Given the description of an element on the screen output the (x, y) to click on. 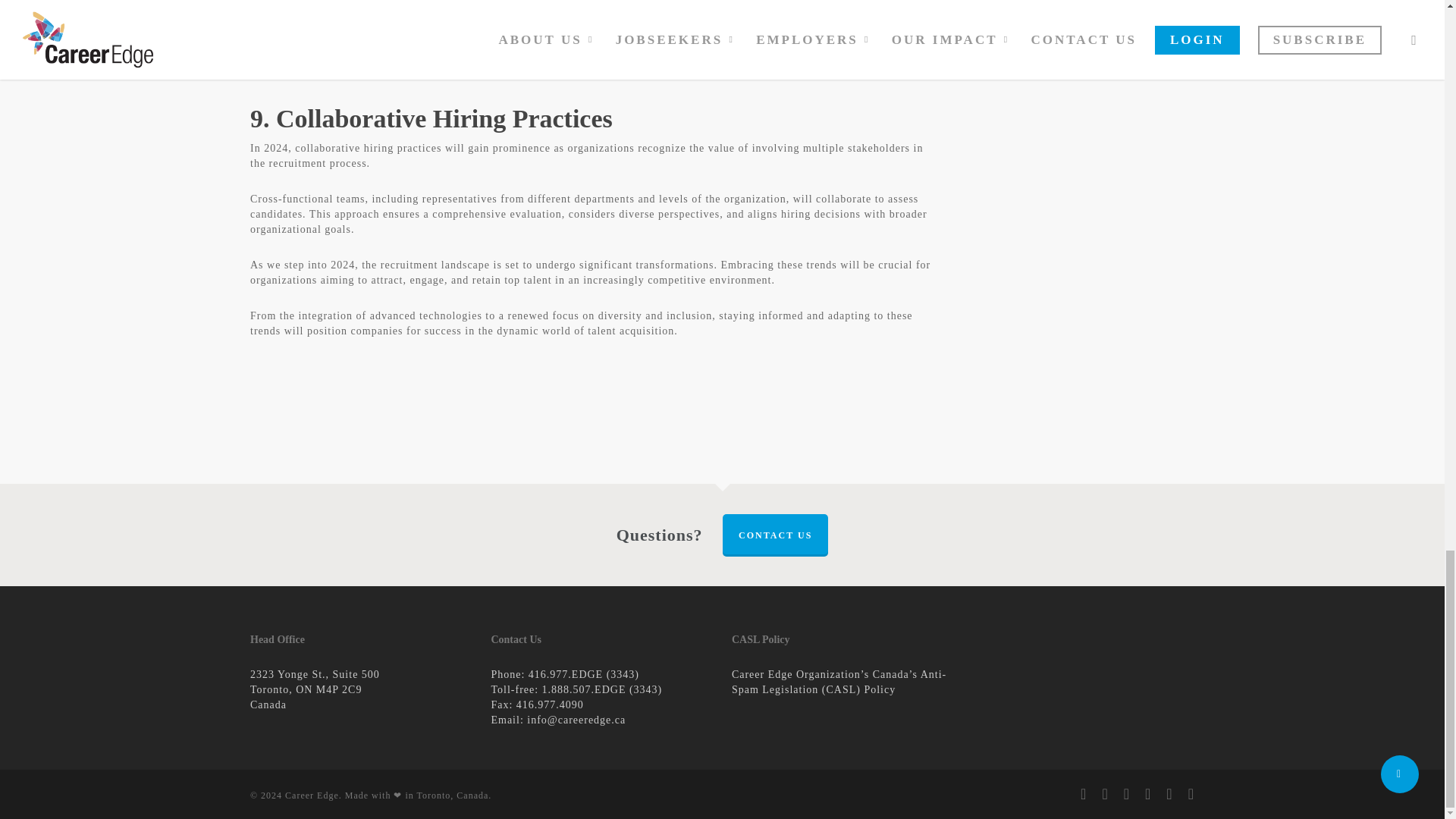
CONTACT US (775, 535)
